Given the description of an element on the screen output the (x, y) to click on. 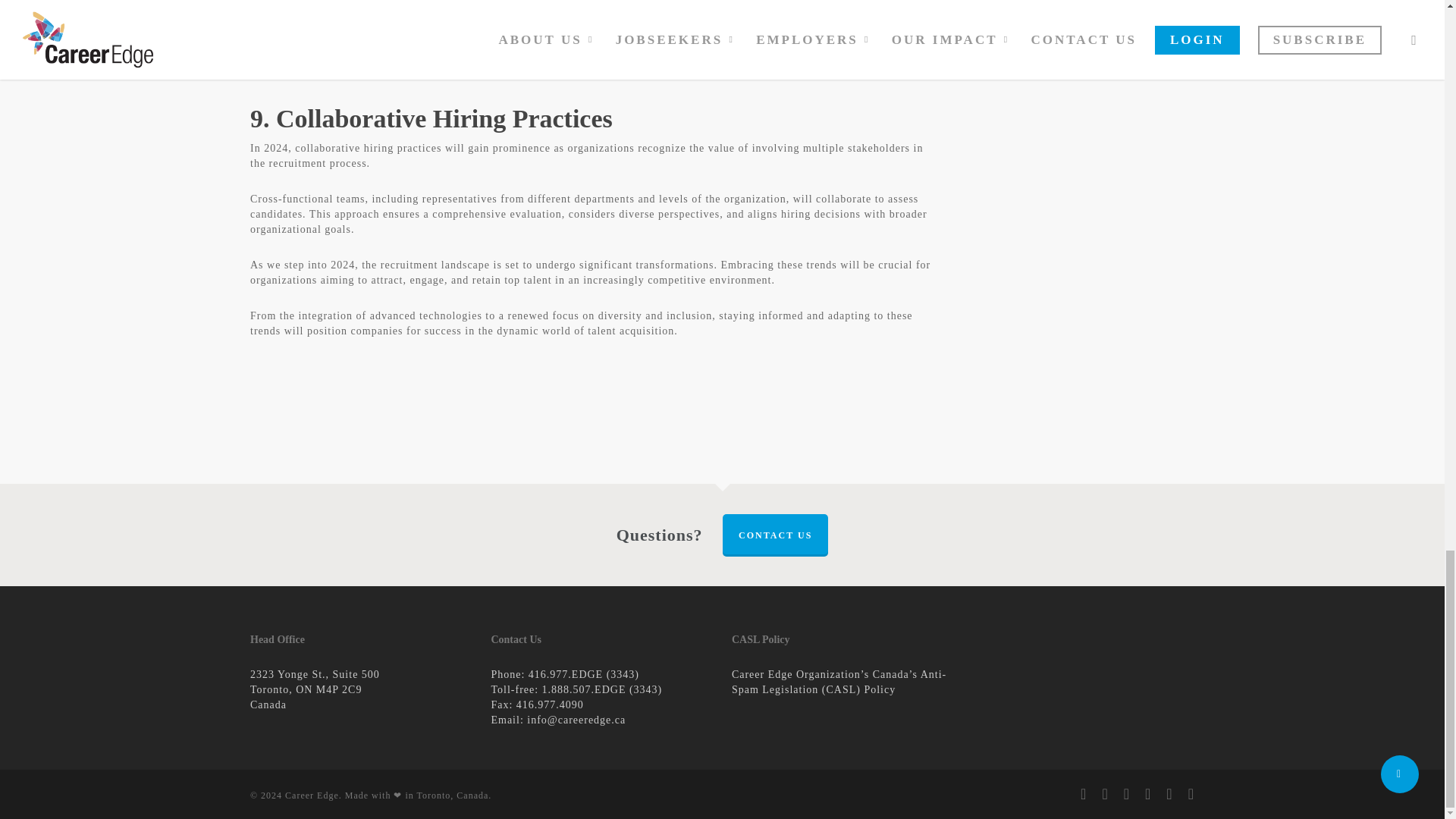
CONTACT US (775, 535)
